Given the description of an element on the screen output the (x, y) to click on. 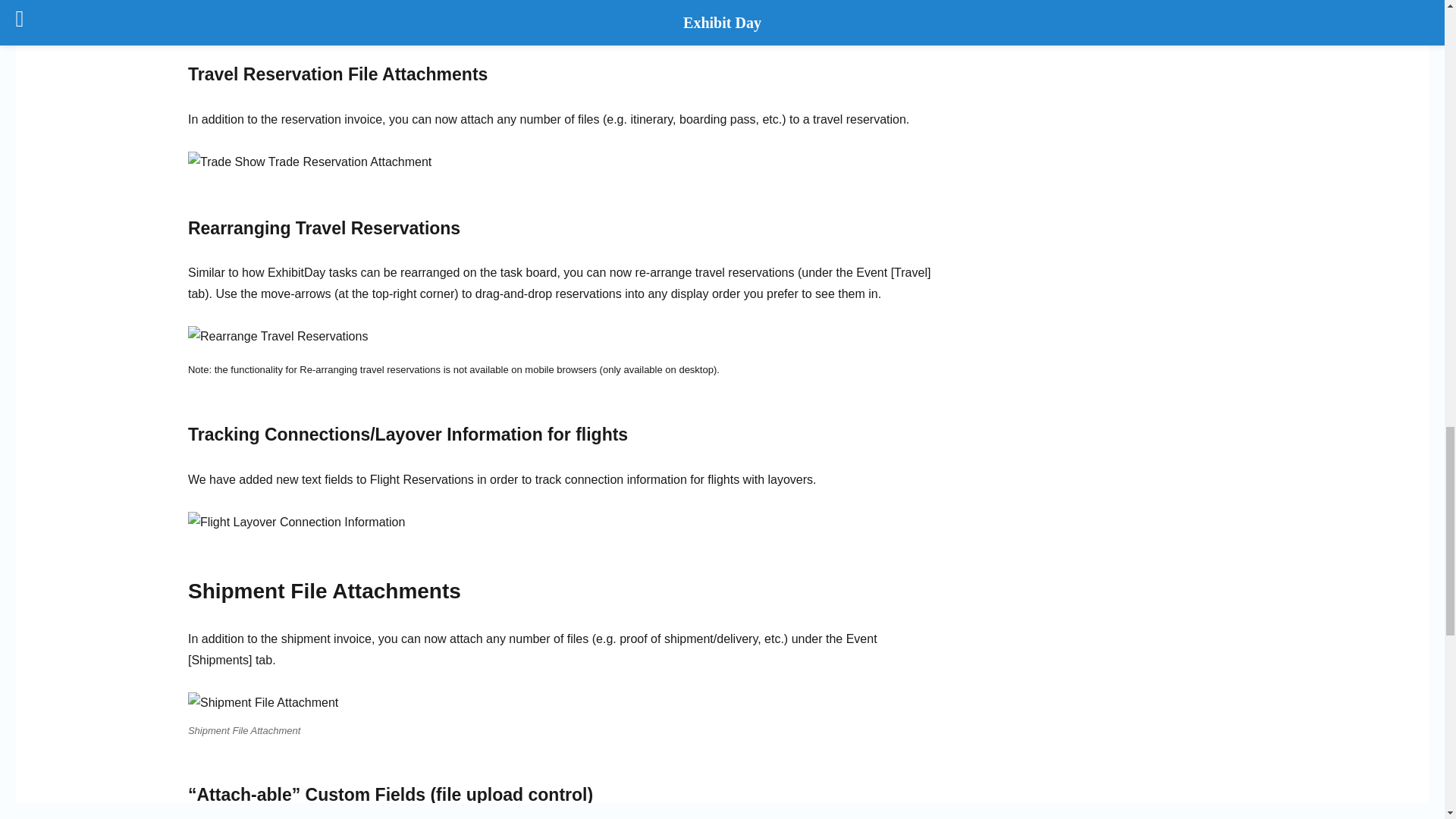
ExhibitDay (560, 6)
